Given the description of an element on the screen output the (x, y) to click on. 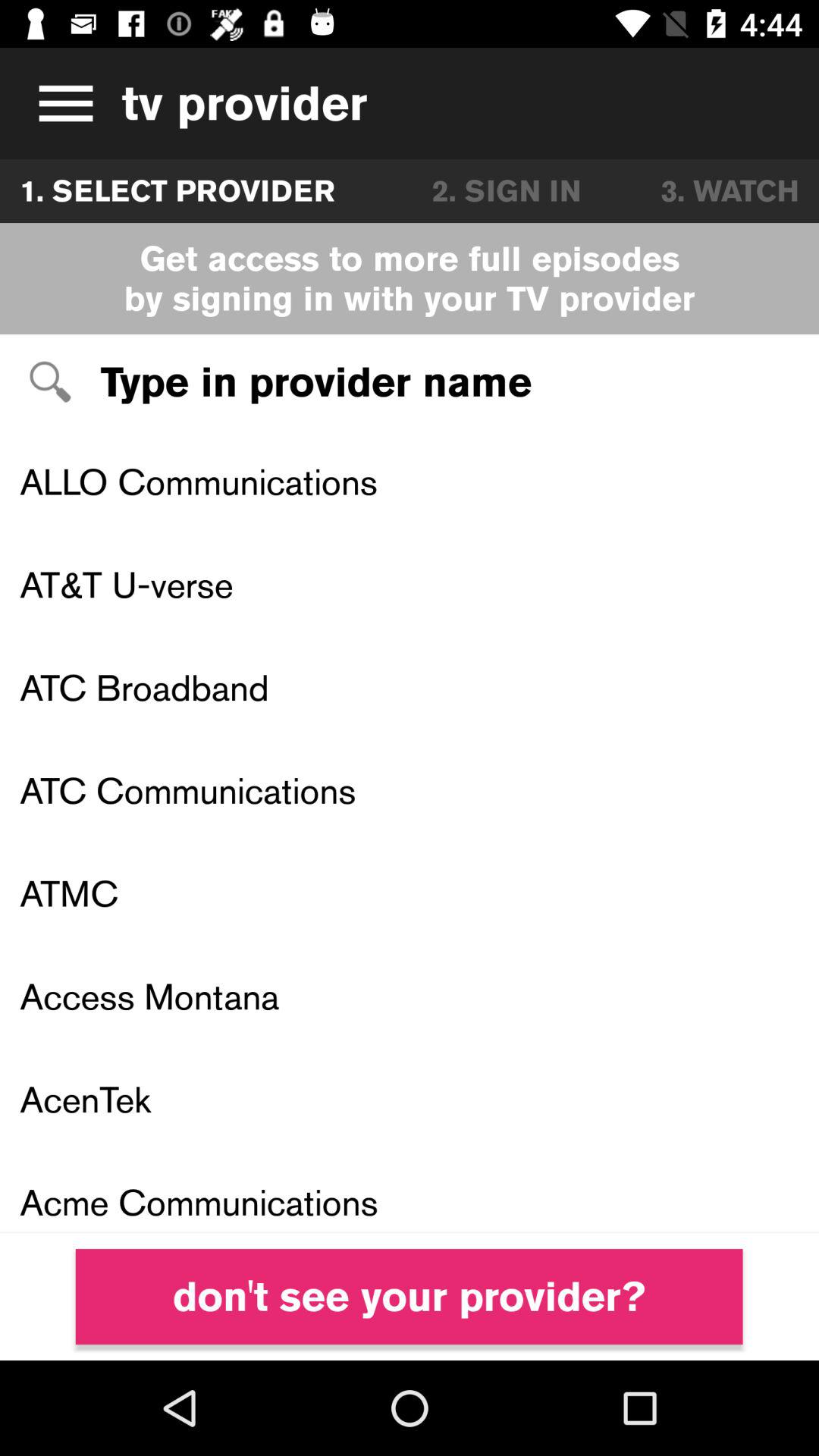
flip to acme communications icon (409, 1191)
